Given the description of an element on the screen output the (x, y) to click on. 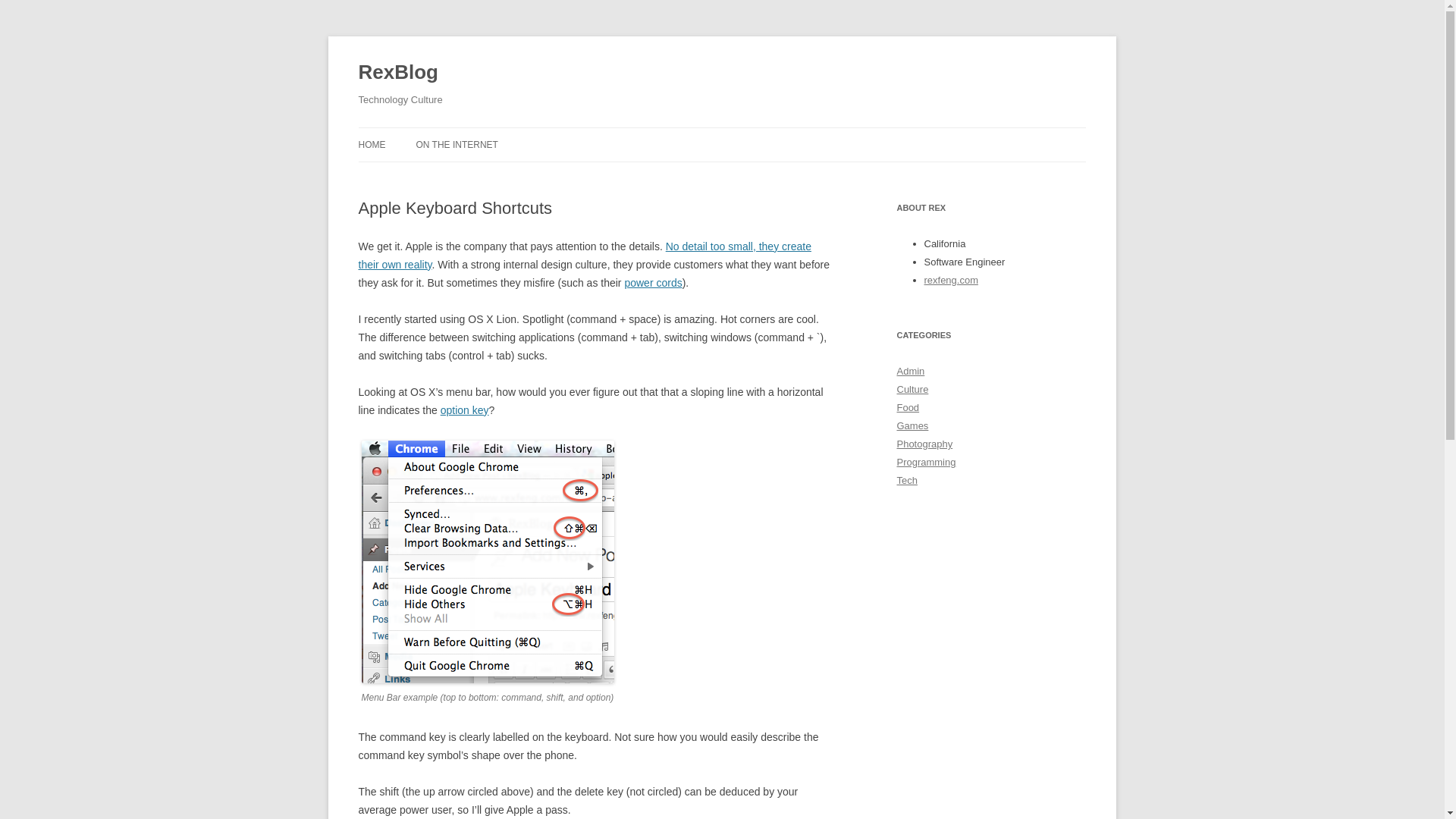
Tech (906, 480)
ON THE INTERNET (455, 144)
option key (465, 410)
RexBlog (398, 72)
Programming (925, 461)
No detail too small, they create their own reality (584, 255)
Admin (910, 370)
Culture (912, 389)
rexfeng.com (949, 279)
power cords (652, 282)
